Given the description of an element on the screen output the (x, y) to click on. 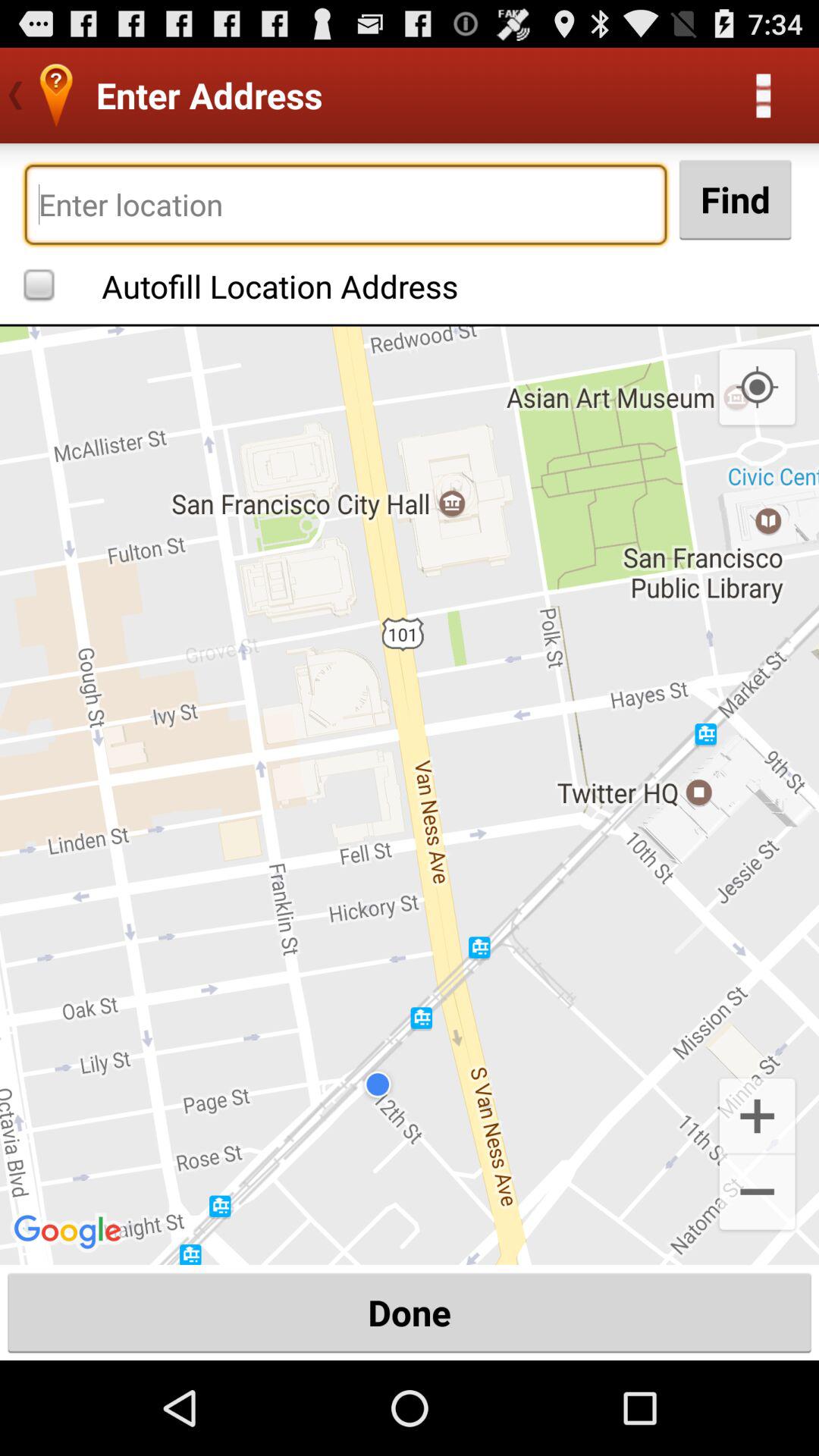
click the button next to the find (345, 204)
